Given the description of an element on the screen output the (x, y) to click on. 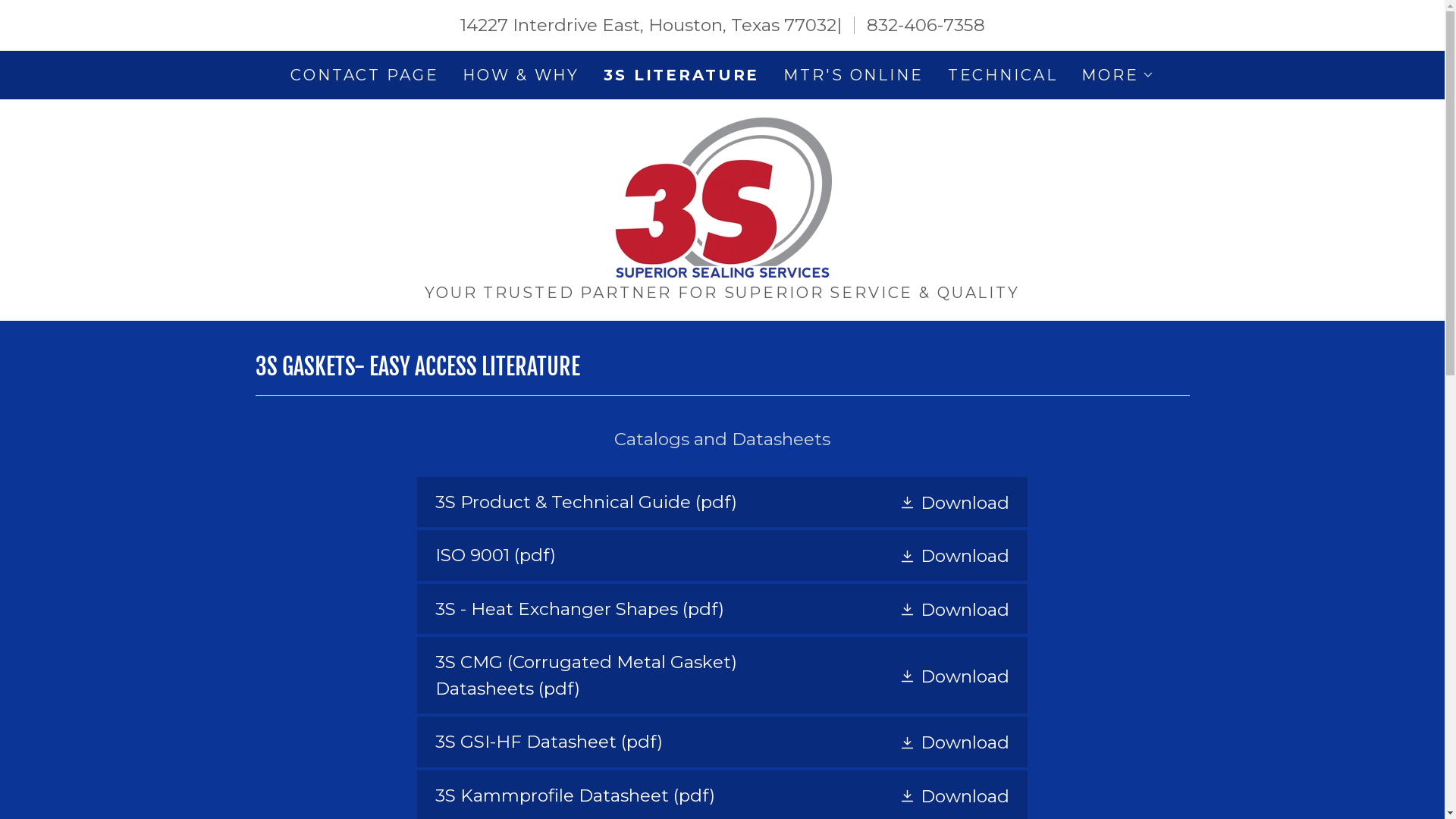
ISO 9001 (pdf)
Download Element type: text (722, 555)
3S Product & Technical Guide (pdf)
Download Element type: text (722, 501)
3S GSI-HF Datasheet (pdf)
Download Element type: text (722, 741)
TECHNICAL Element type: text (1002, 73)
MORE Element type: text (1117, 74)
3S - Heat Exchanger Shapes (pdf)
Download Element type: text (722, 608)
3S CMG (Corrugated Metal Gasket) Datasheets (pdf)
Download Element type: text (722, 675)
3S LITERATURE Element type: text (681, 74)
3S - Superior Sealing Services Element type: hover (721, 195)
MTR'S ONLINE Element type: text (852, 73)
HOW & WHY Element type: text (520, 73)
832-406-7358 Element type: text (925, 24)
CONTACT PAGE Element type: text (363, 73)
